Given the description of an element on the screen output the (x, y) to click on. 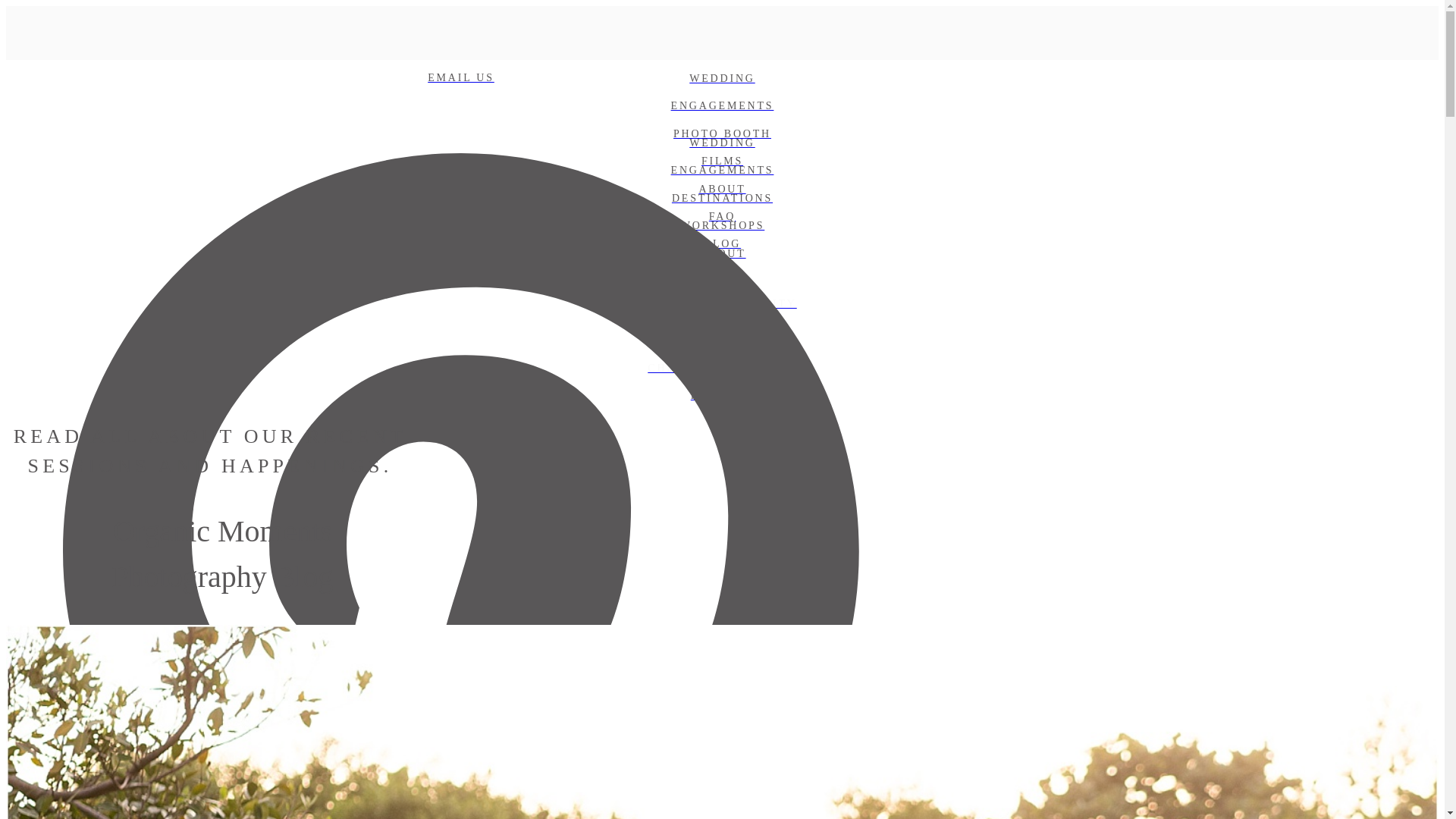
EMAIL US (460, 77)
